Given the description of an element on the screen output the (x, y) to click on. 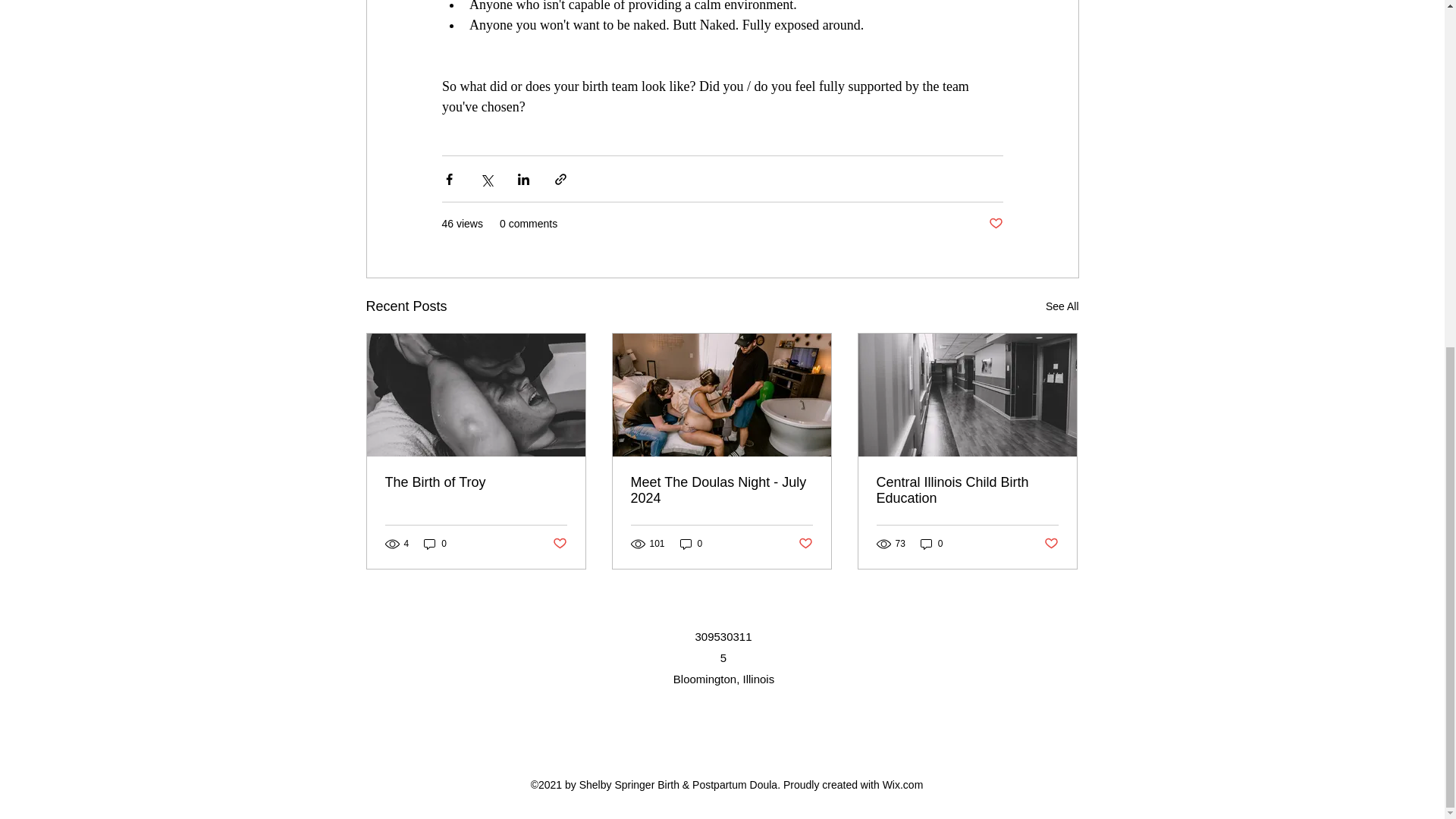
Central Illinois Child Birth Education (967, 490)
Post not marked as liked (995, 223)
0 (435, 544)
0 (931, 544)
Post not marked as liked (1050, 544)
Post not marked as liked (558, 544)
The Birth of Troy (476, 482)
Post not marked as liked (804, 544)
0 (691, 544)
Meet The Doulas Night - July 2024 (721, 490)
See All (1061, 306)
